Given the description of an element on the screen output the (x, y) to click on. 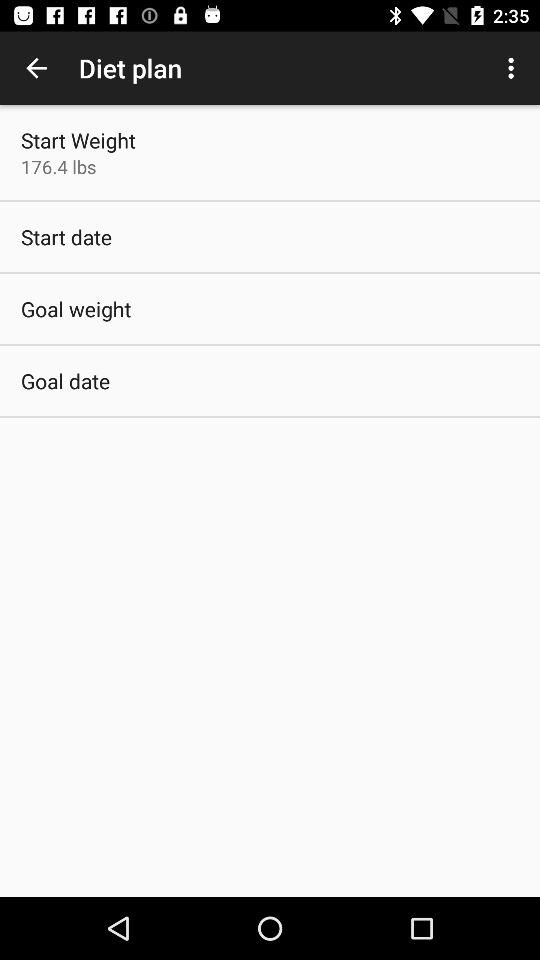
click app above goal weight icon (66, 236)
